Given the description of an element on the screen output the (x, y) to click on. 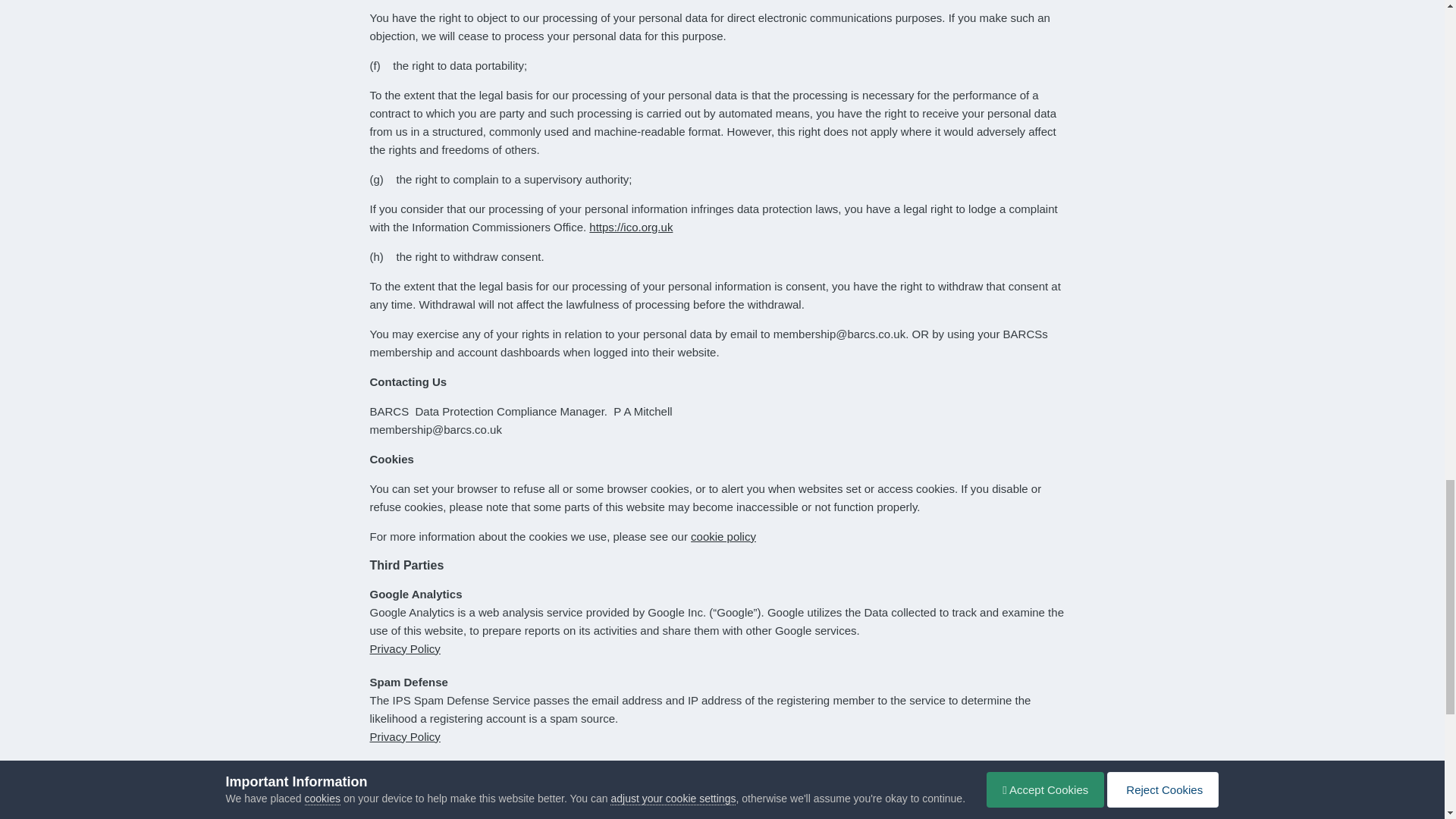
Privacy Policy (405, 736)
cookie policy (722, 535)
Privacy Policy (405, 648)
Privacy Policy (405, 818)
